Given the description of an element on the screen output the (x, y) to click on. 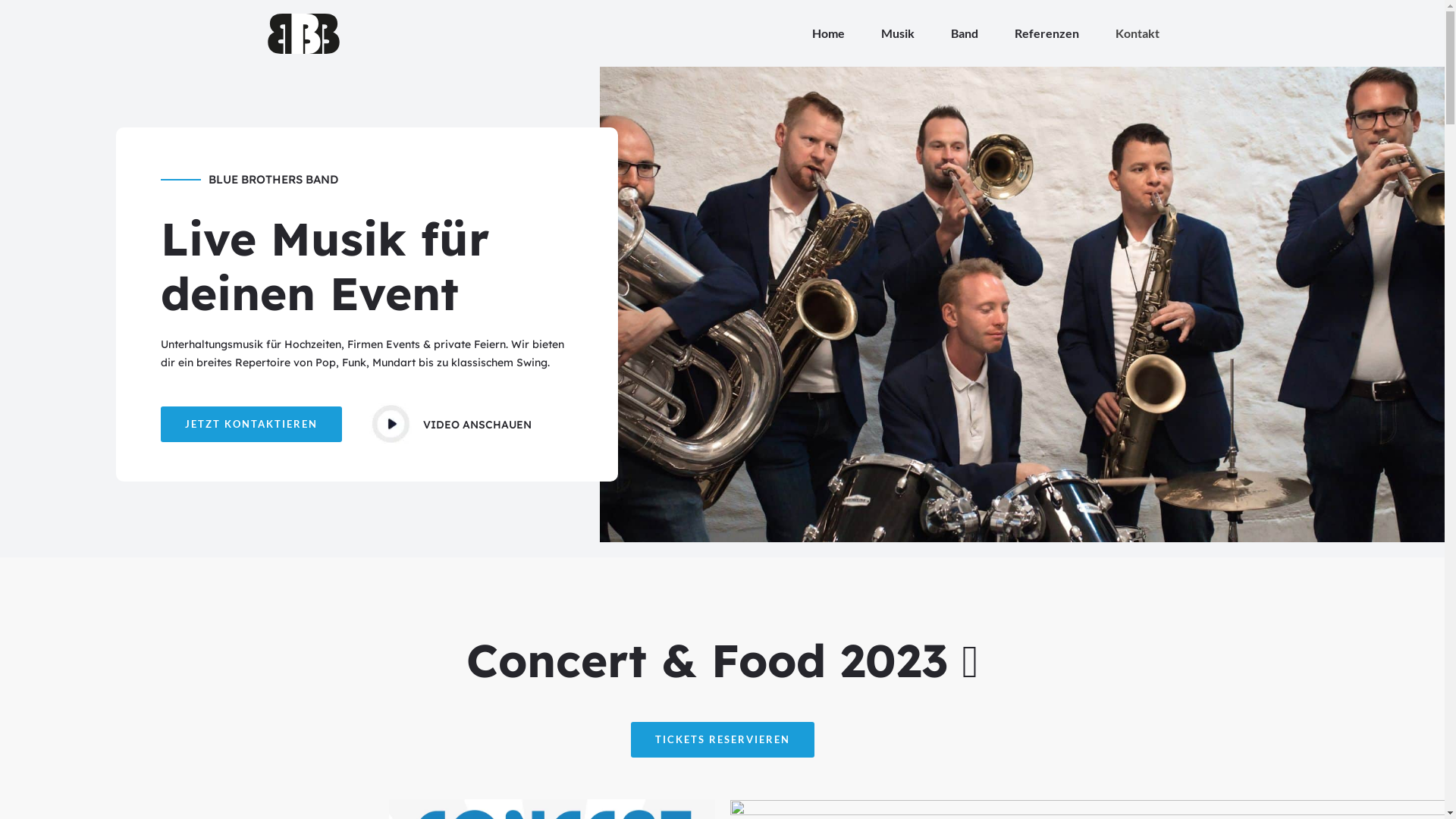
Band Element type: text (964, 33)
JETZT KONTAKTIEREN Element type: text (251, 424)
Musik Element type: text (897, 33)
Home Element type: text (827, 33)
VIDEO ANSCHAUEN Element type: text (477, 424)
Referenzen Element type: text (1046, 33)
Kontakt Element type: text (1136, 33)
TICKETS RESERVIEREN Element type: text (722, 739)
